Given the description of an element on the screen output the (x, y) to click on. 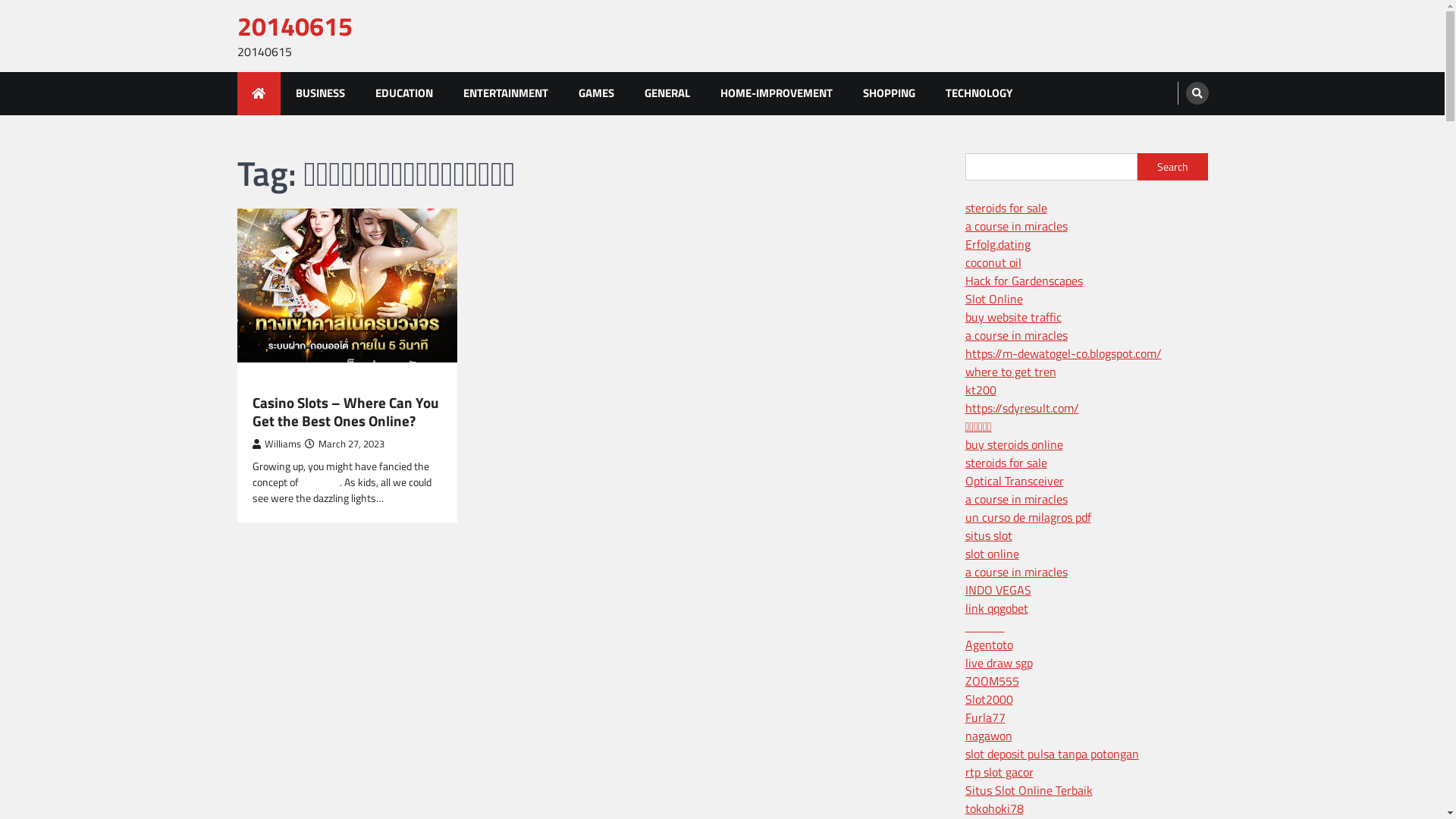
situs slot Element type: text (987, 535)
rtp slot gacor Element type: text (998, 771)
Optical Transceiver Element type: text (1013, 480)
a course in miracles Element type: text (1015, 335)
Search Element type: text (1168, 128)
kt200 Element type: text (979, 389)
Williams Element type: text (275, 443)
a course in miracles Element type: text (1015, 225)
March 27, 2023 Element type: text (344, 443)
GAMES Element type: text (266, 383)
slot online Element type: text (991, 553)
GAMES Element type: text (595, 93)
Search Element type: text (1172, 166)
HOME-IMPROVEMENT Element type: text (776, 93)
https://sdyresult.com/ Element type: text (1021, 407)
live draw sgp Element type: text (998, 662)
GENERAL Element type: text (667, 93)
SHOPPING Element type: text (888, 93)
buy steroids online Element type: text (1013, 444)
Search Element type: hover (1197, 92)
Furla77 Element type: text (984, 717)
20140615 Element type: text (293, 25)
Hack for Gardenscapes Element type: text (1023, 280)
https://m-dewatogel-co.blogspot.com/ Element type: text (1062, 353)
nagawon Element type: text (987, 735)
coconut oil Element type: text (992, 262)
un curso de milagros pdf Element type: text (1027, 517)
where to get tren Element type: text (1009, 371)
buy website traffic Element type: text (1012, 316)
link qqgobet Element type: text (995, 608)
steroids for sale Element type: text (1005, 462)
Slot Online Element type: text (993, 298)
TECHNOLOGY Element type: text (977, 93)
EDUCATION Element type: text (403, 93)
Situs Slot Online Terbaik Element type: text (1028, 790)
a course in miracles Element type: text (1015, 571)
slot deposit pulsa tanpa potongan Element type: text (1051, 753)
Slot2000 Element type: text (988, 699)
ENTERTAINMENT Element type: text (504, 93)
BUSINESS Element type: text (320, 93)
tokohoki78 Element type: text (993, 808)
Agentoto Element type: text (988, 644)
Erfolg.dating Element type: text (996, 244)
steroids for sale Element type: text (1005, 207)
a course in miracles Element type: text (1015, 498)
INDO VEGAS Element type: text (997, 589)
ZOOM555 Element type: text (991, 680)
